Given the description of an element on the screen output the (x, y) to click on. 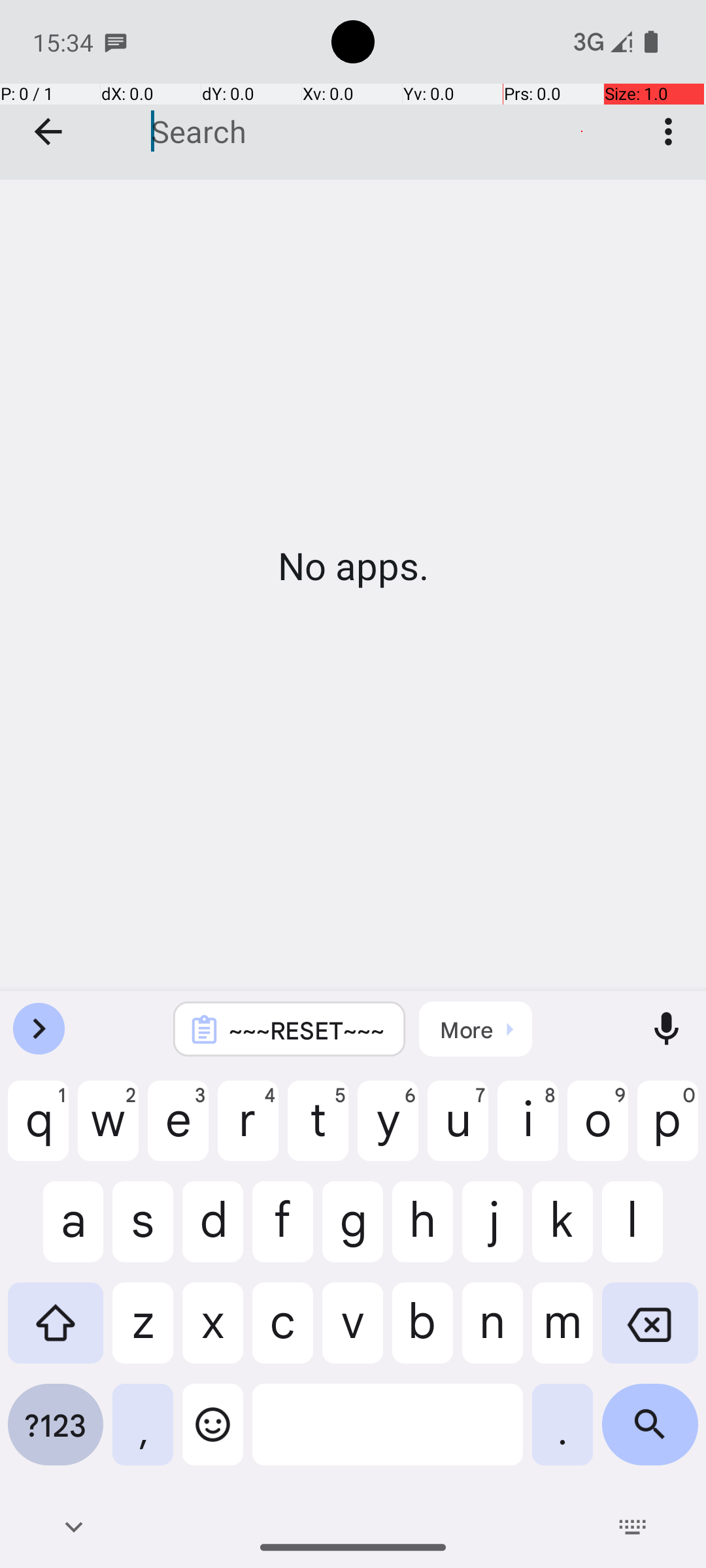
Games Element type: android.widget.FrameLayout (353, 89)
No apps. Element type: android.widget.TextView (353, 565)
